Given the description of an element on the screen output the (x, y) to click on. 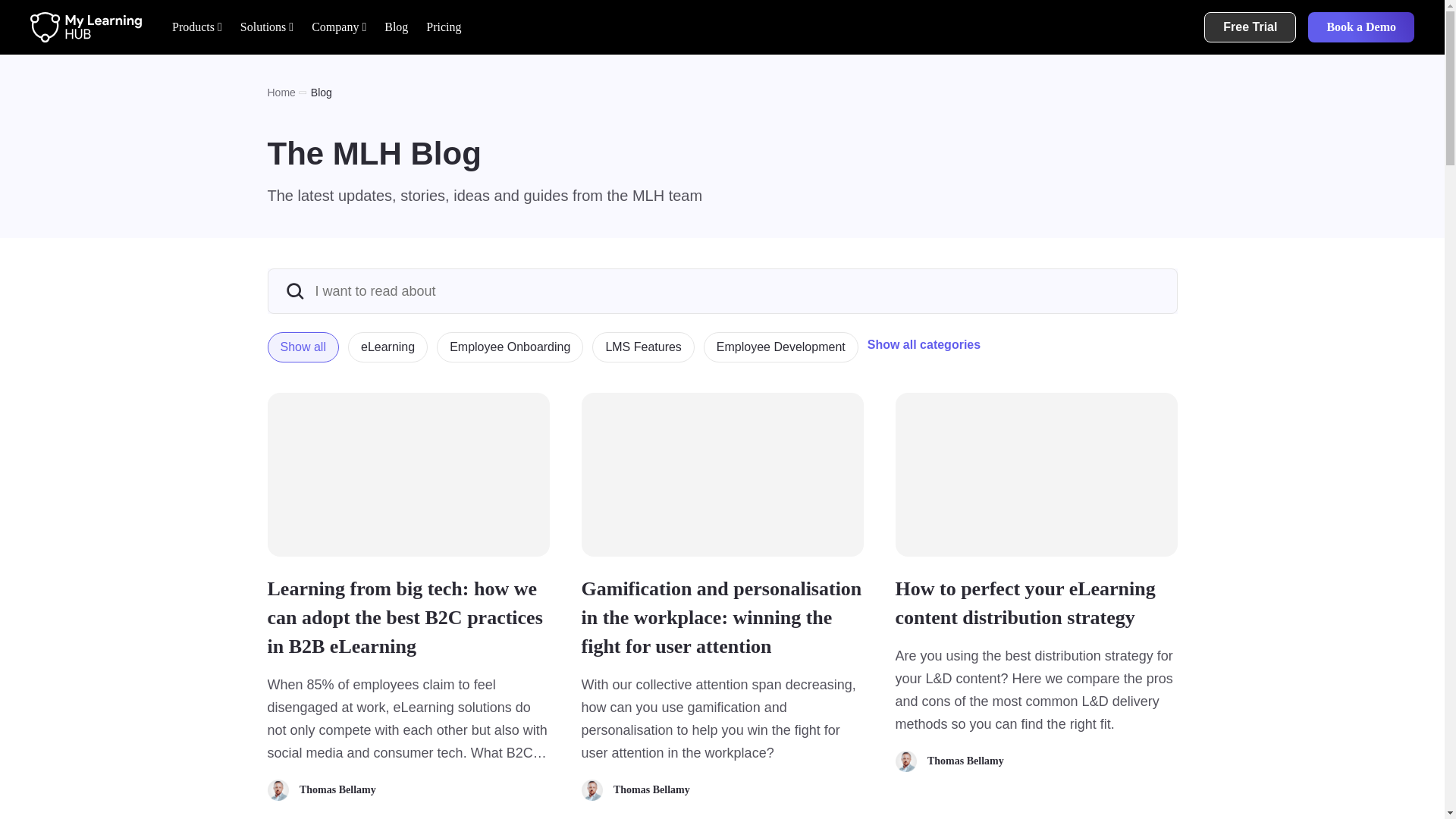
Home (288, 92)
eLearning (391, 351)
Employee Onboarding (514, 351)
LMS Features (647, 351)
Employee Development (785, 351)
Free Trial (1249, 27)
Show all (306, 351)
